Given the description of an element on the screen output the (x, y) to click on. 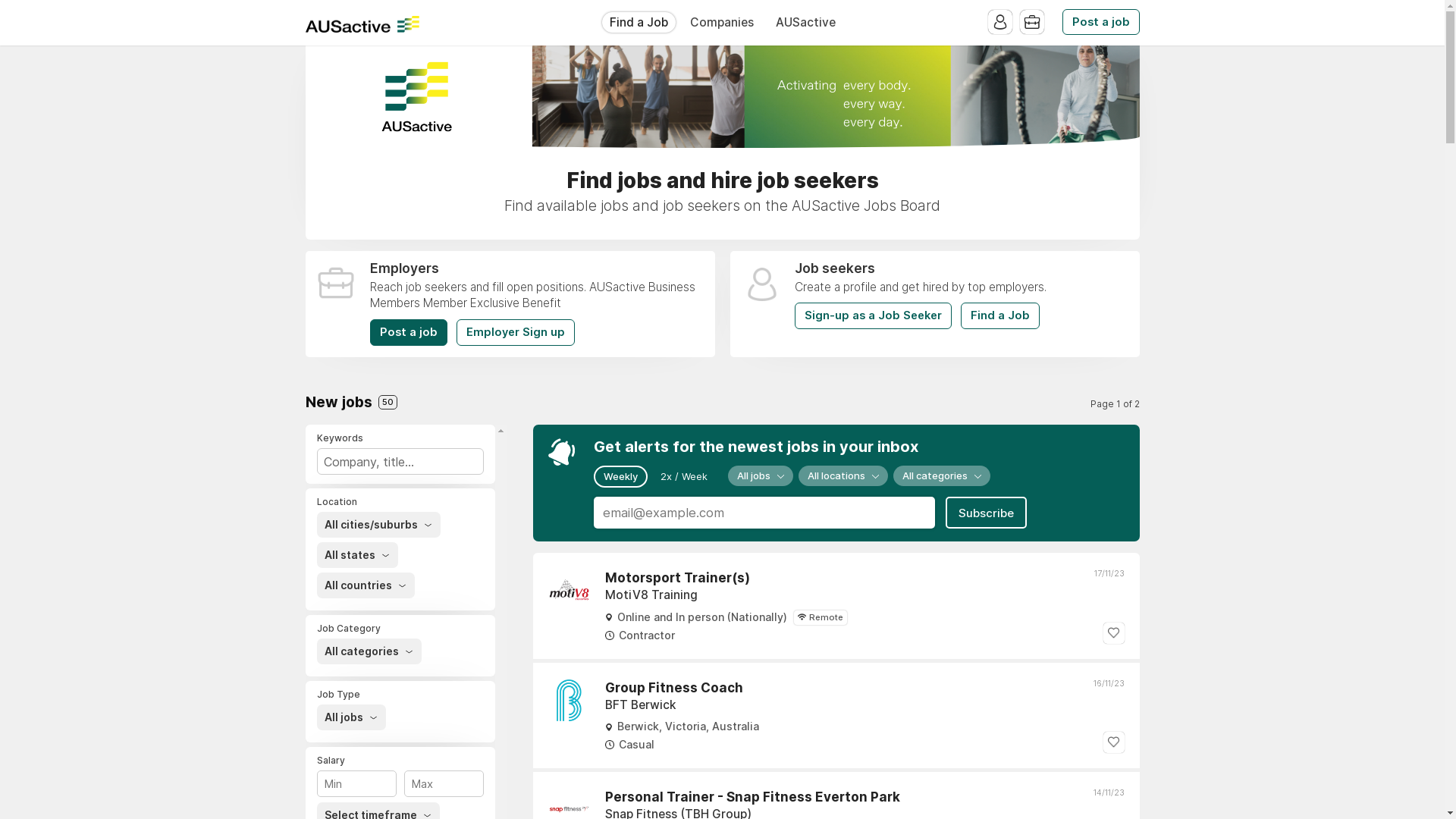
Find a Job Element type: text (638, 22)
Sign-up as a Job Seeker Element type: text (872, 315)
Subscribe Element type: text (985, 512)
Save job Element type: text (1112, 632)
Find a Job Element type: text (999, 315)
Employer Sign up Element type: text (515, 332)
Companies Element type: text (721, 22)
Save job Element type: text (1112, 742)
AUSactive Element type: hover (361, 24)
Post a job Element type: text (1100, 22)
AUSactive Element type: text (804, 22)
Post a job Element type: text (408, 332)
